Given the description of an element on the screen output the (x, y) to click on. 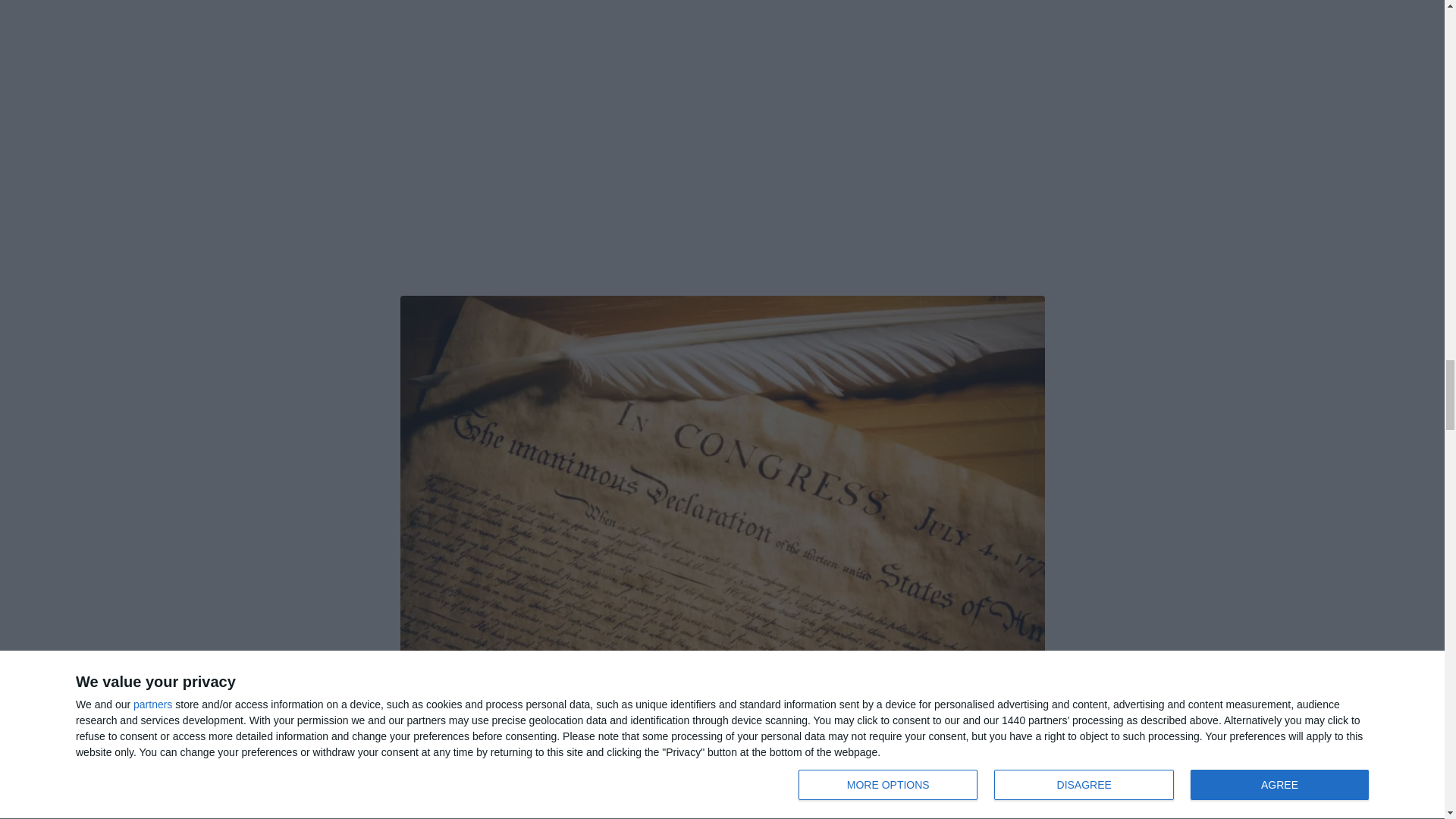
View all posts by Matt Biscay (515, 801)
